Given the description of an element on the screen output the (x, y) to click on. 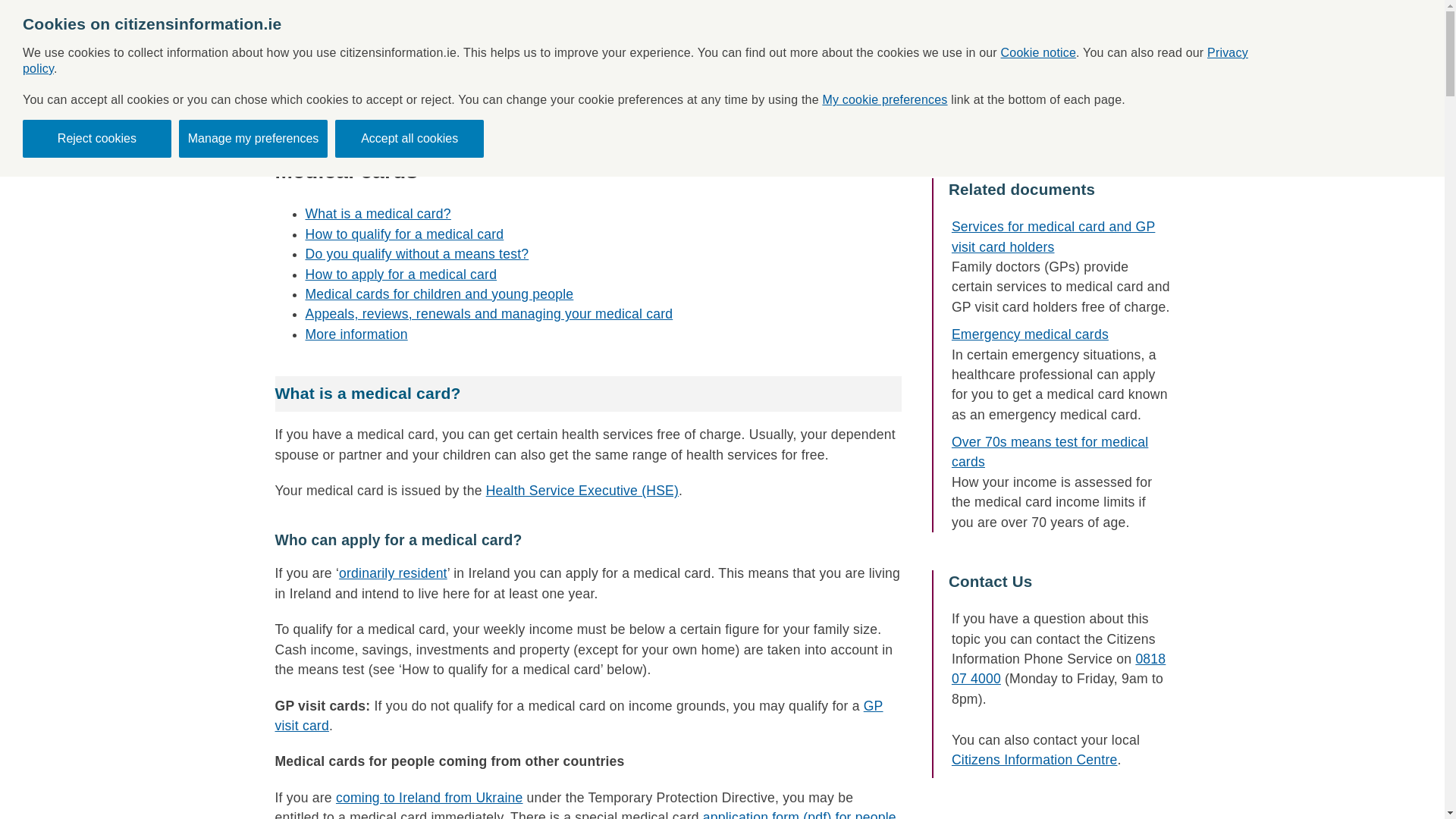
My Situation (812, 45)
Privacy policy (635, 60)
Reject cookies (97, 138)
Cookie notice (1039, 51)
Manage my preferences (254, 138)
My cookie preferences (884, 99)
Search (1043, 106)
What's New (707, 45)
Gaeilge (1418, 13)
Categories (608, 45)
Accept all cookies (408, 138)
